Given the description of an element on the screen output the (x, y) to click on. 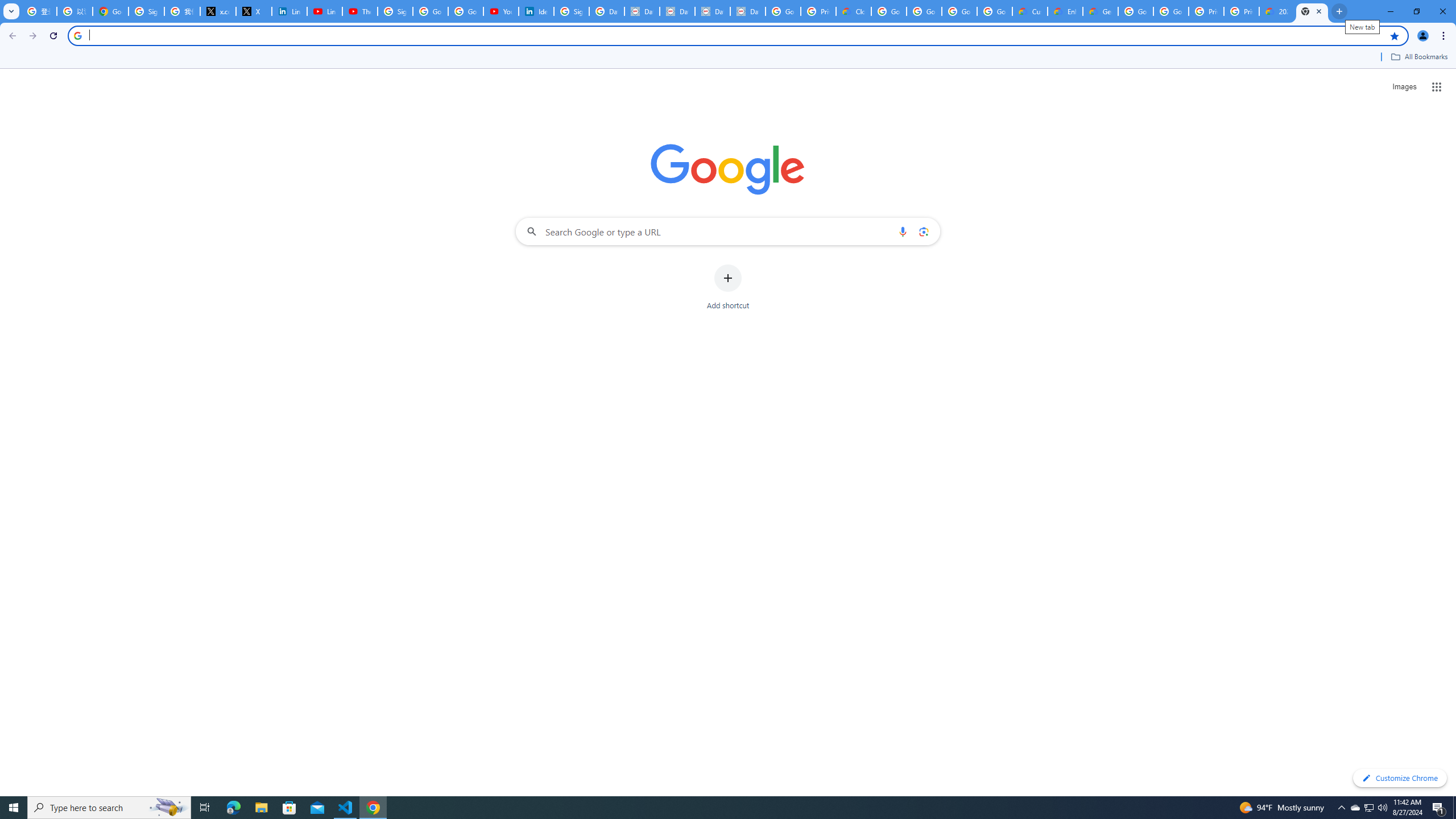
Google Workspace - Specific Terms (959, 11)
Sign in - Google Accounts (145, 11)
Data Privacy Framework (747, 11)
Data Privacy Framework (641, 11)
Enhanced Support | Google Cloud (1064, 11)
